Given the description of an element on the screen output the (x, y) to click on. 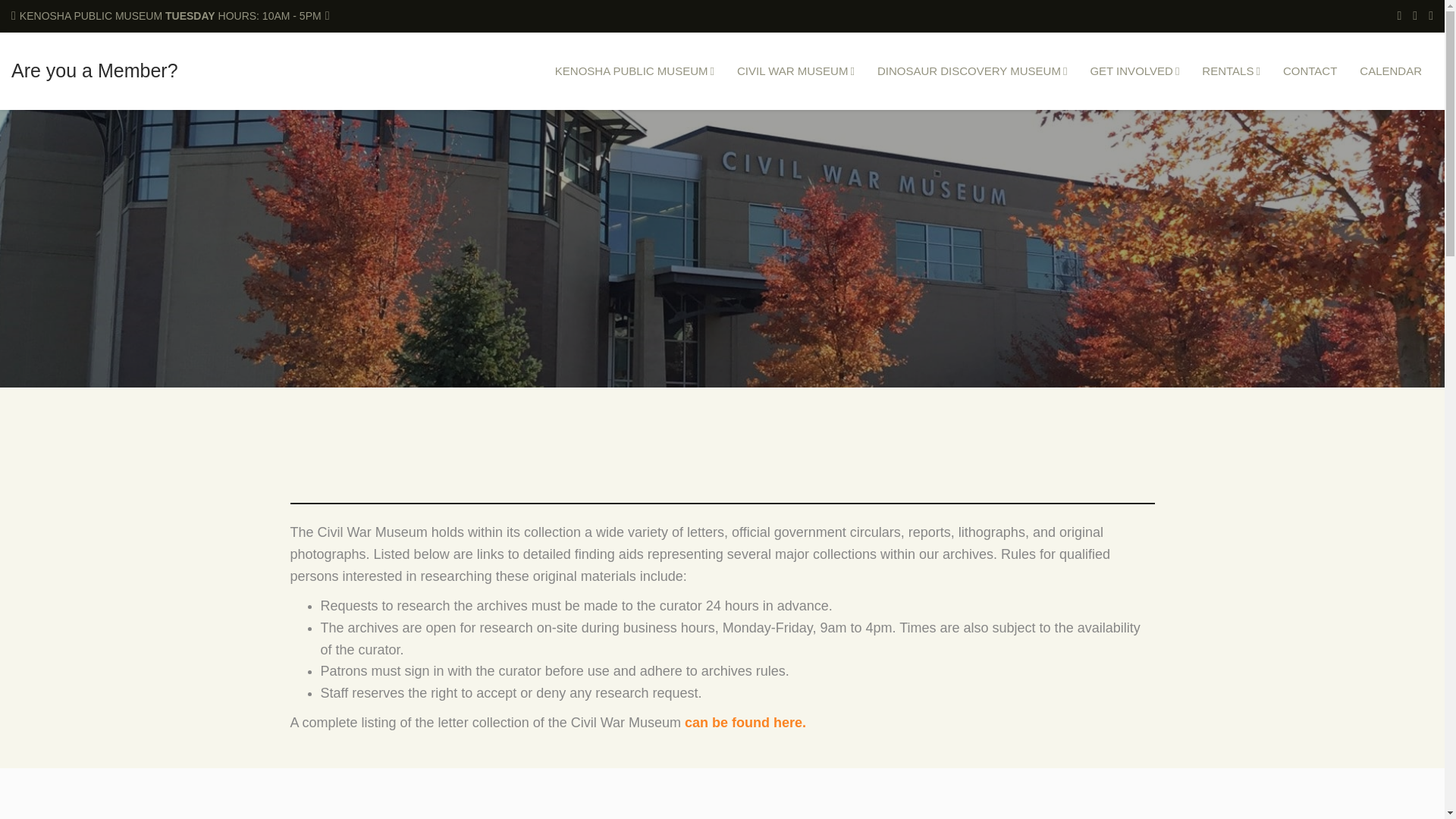
KENOSHA PUBLIC MUSEUM (634, 70)
CIVIL WAR MUSEUM (795, 70)
Are you a Member? (94, 70)
